Given the description of an element on the screen output the (x, y) to click on. 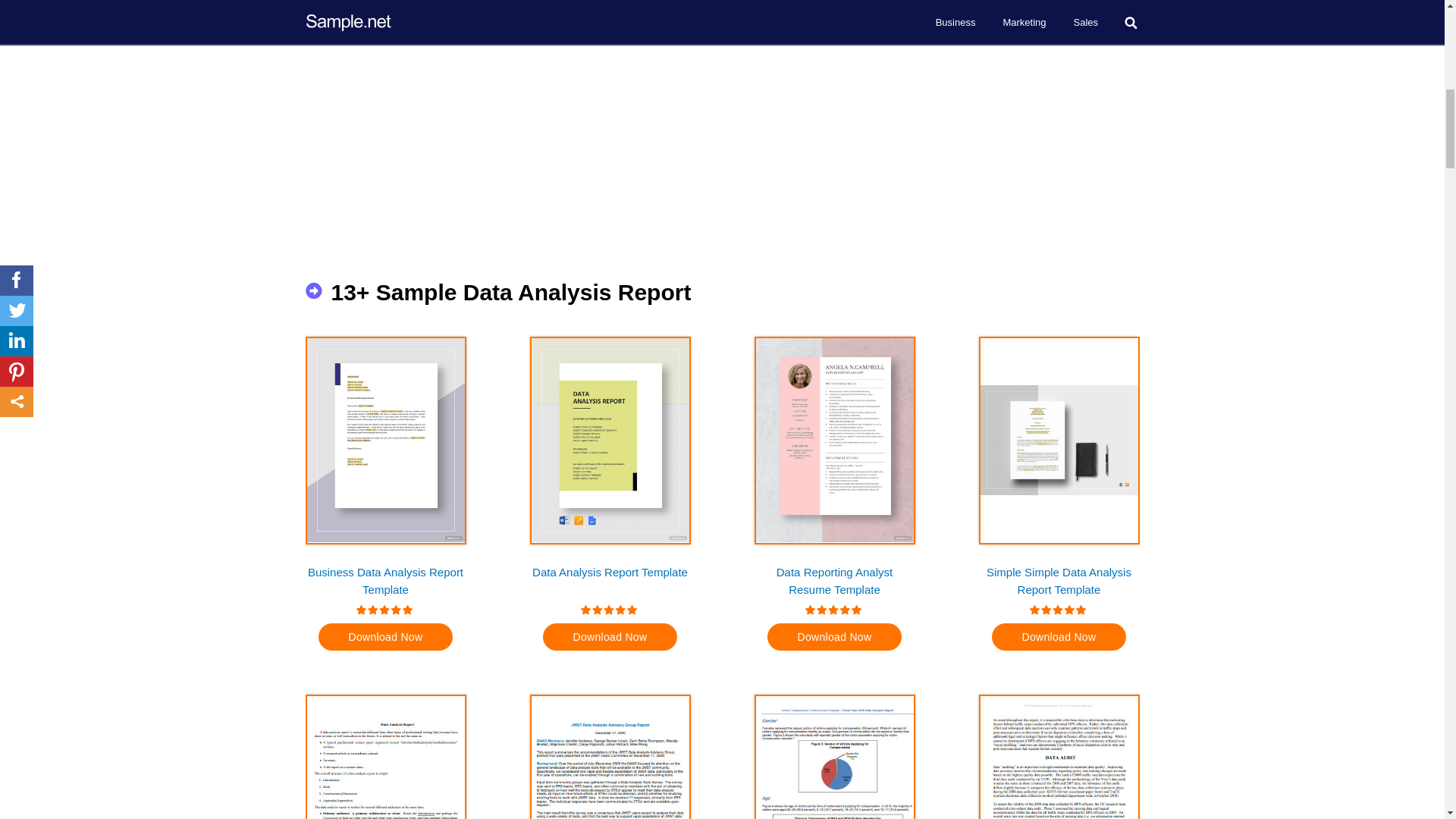
Download Now (610, 636)
Download Now (1058, 636)
Data Analysis Report Template (609, 580)
Simple Simple Data Analysis Report Template (1058, 580)
Download Now (385, 636)
Data Reporting Analyst Resume Template (834, 580)
Business Data Analysis Report Template (384, 580)
Download Now (834, 636)
